Given the description of an element on the screen output the (x, y) to click on. 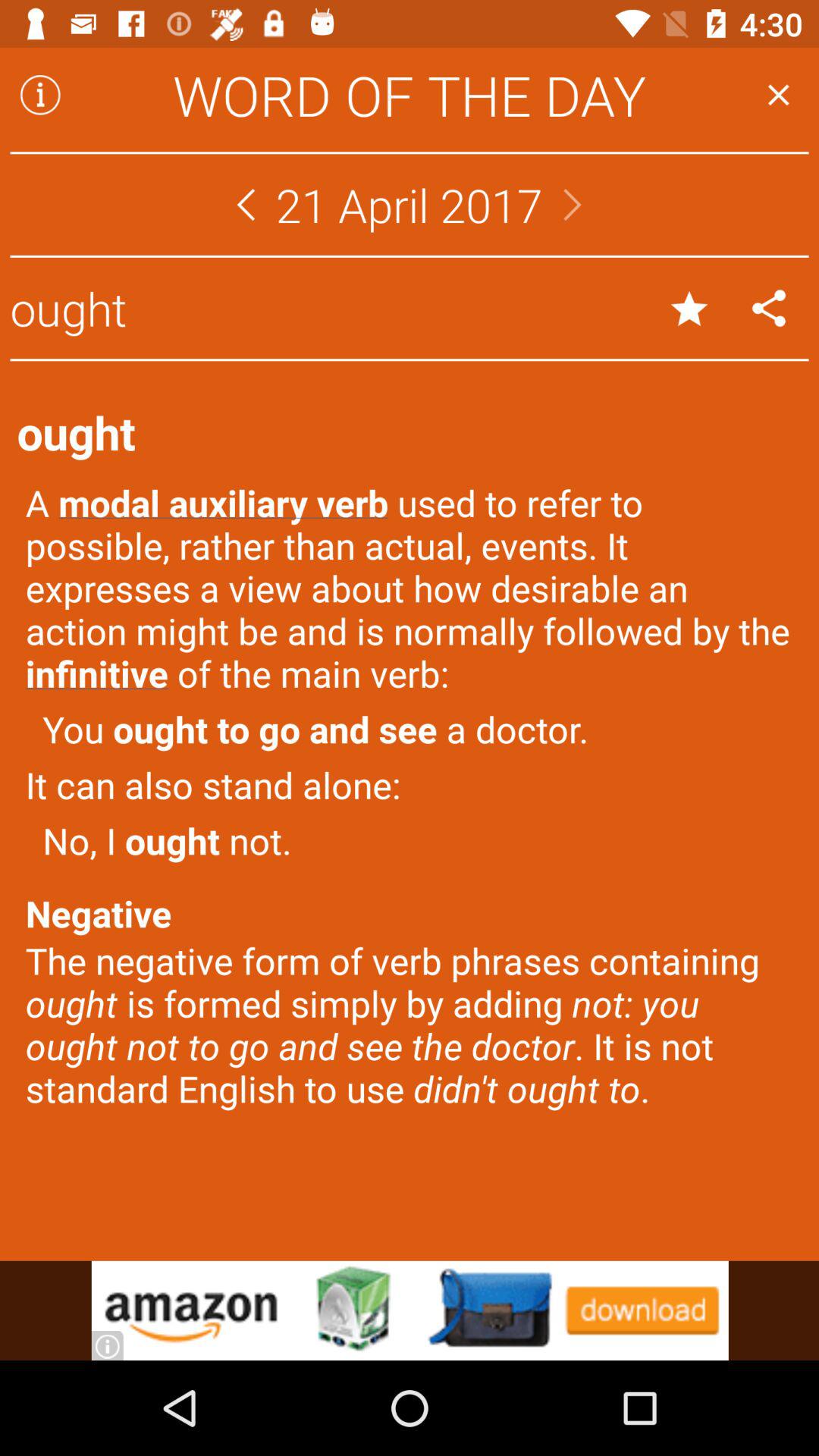
go back (245, 204)
